Given the description of an element on the screen output the (x, y) to click on. 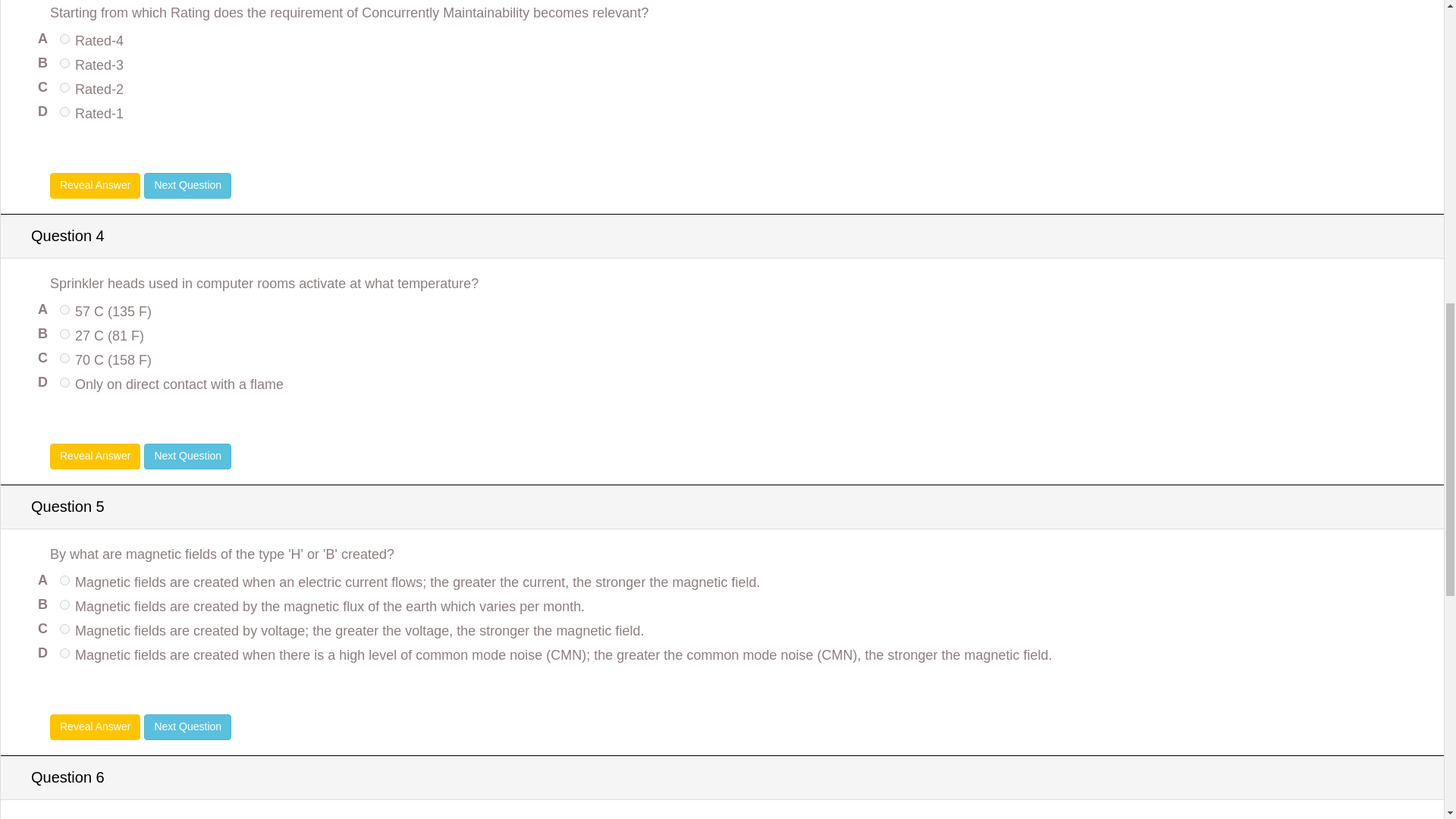
B (64, 604)
B (64, 334)
C (64, 357)
D (64, 382)
A (64, 580)
A (64, 309)
A (64, 39)
C (64, 87)
D (64, 112)
B (64, 62)
